Given the description of an element on the screen output the (x, y) to click on. 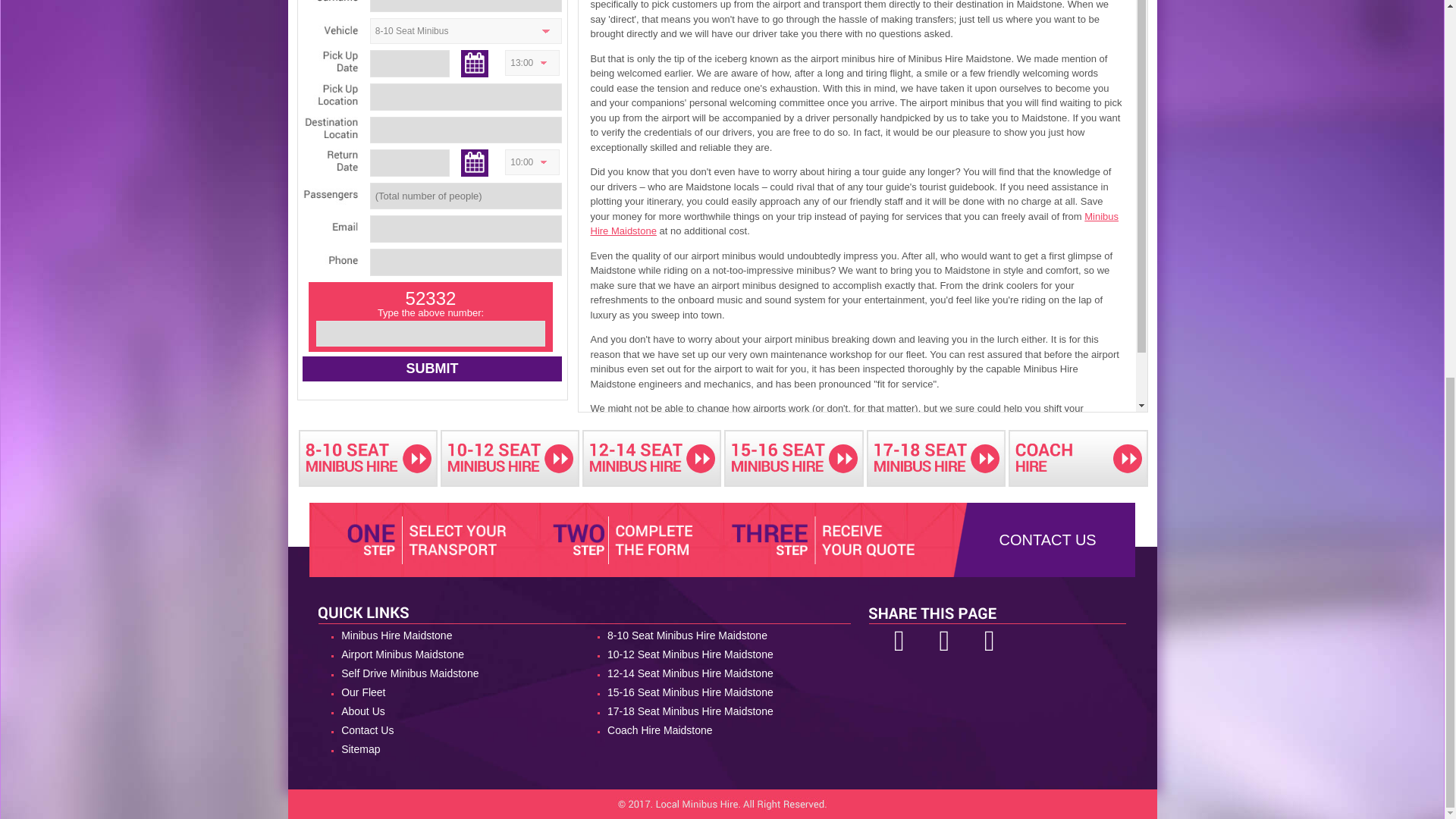
Submit (431, 368)
Airport Minibus Maidstone (451, 654)
CONTACT US (1047, 539)
Minibus Hire Maidstone (853, 223)
Minibus Hire Maidstone (451, 635)
Submit (431, 368)
